Given the description of an element on the screen output the (x, y) to click on. 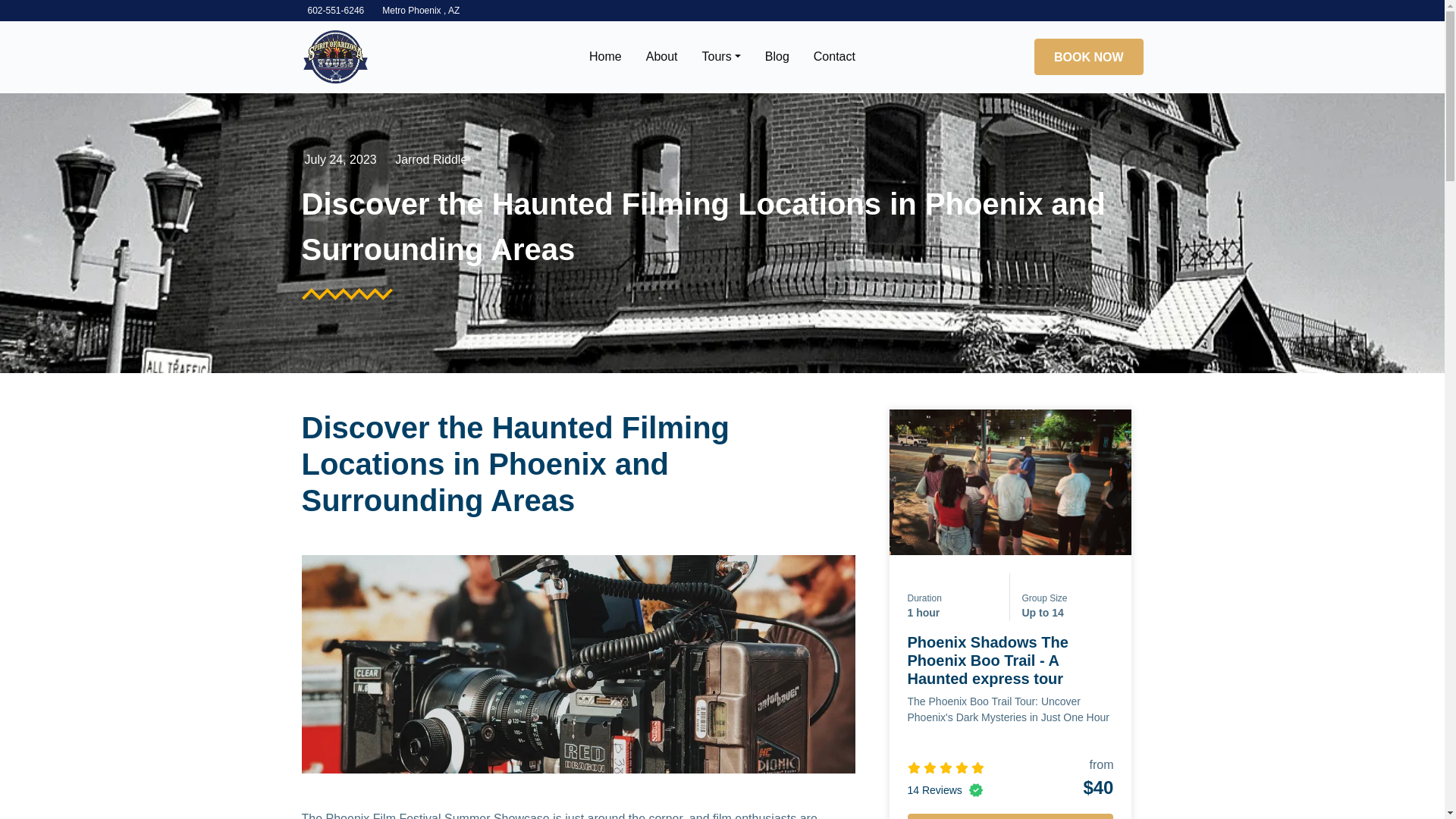
602-551-6246 (336, 9)
About (661, 56)
Metro Phoenix , AZ (420, 9)
Gondola (335, 56)
Contact (834, 56)
Tours (721, 56)
BOOK NOW (1087, 56)
Book Now (1087, 56)
Blog (777, 56)
Book Now (1010, 816)
Google Maps (420, 9)
Home (604, 56)
